Given the description of an element on the screen output the (x, y) to click on. 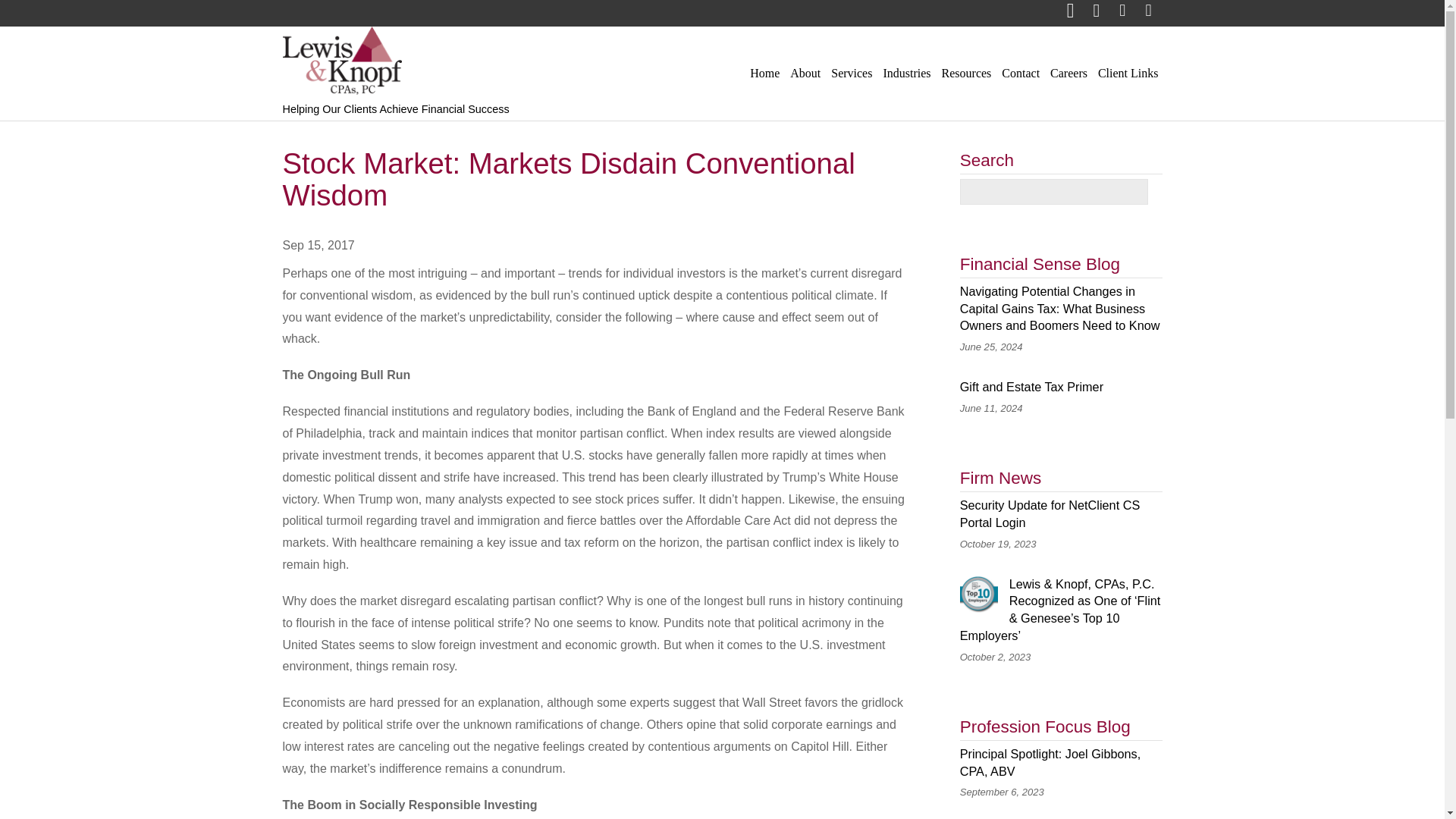
Search (1053, 191)
